Given the description of an element on the screen output the (x, y) to click on. 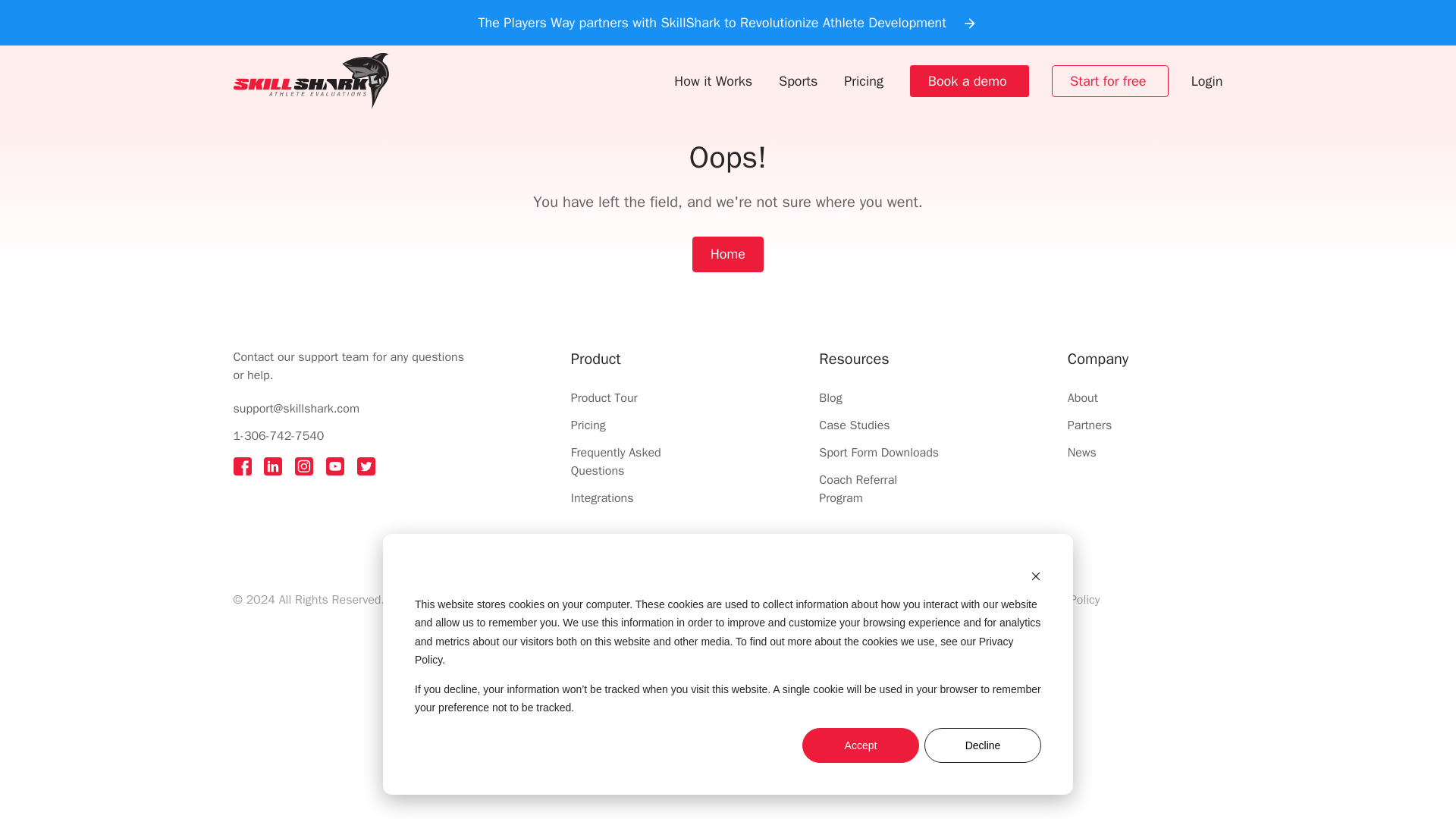
Start for free (1107, 80)
Back to homepage (310, 81)
Login (1207, 80)
How it Works (713, 80)
Book a demo (967, 80)
Sports (797, 80)
Pricing (863, 80)
